Given the description of an element on the screen output the (x, y) to click on. 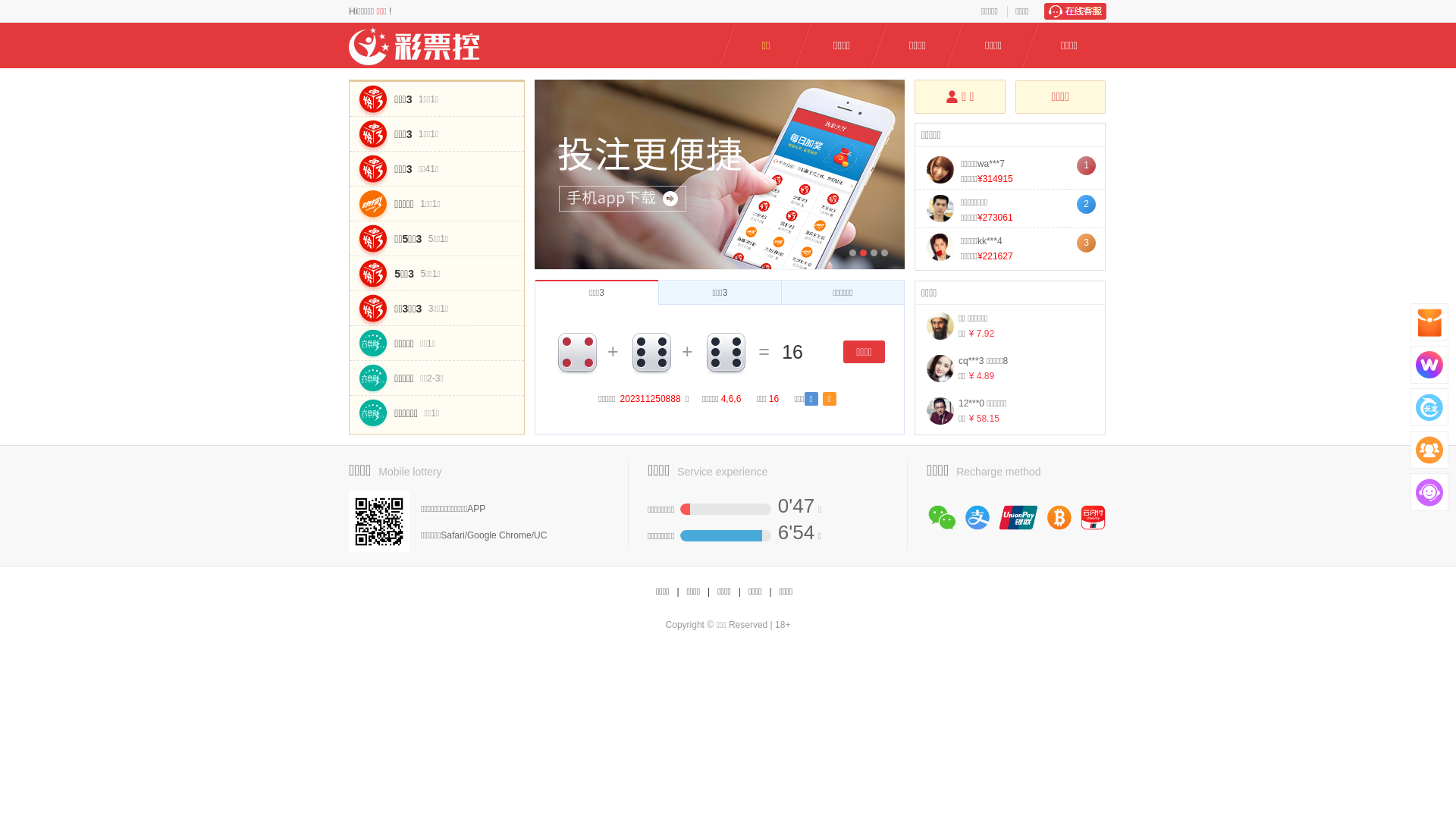
| Element type: text (708, 591)
| Element type: text (769, 591)
| Element type: text (739, 591)
| Element type: text (677, 591)
